Given the description of an element on the screen output the (x, y) to click on. 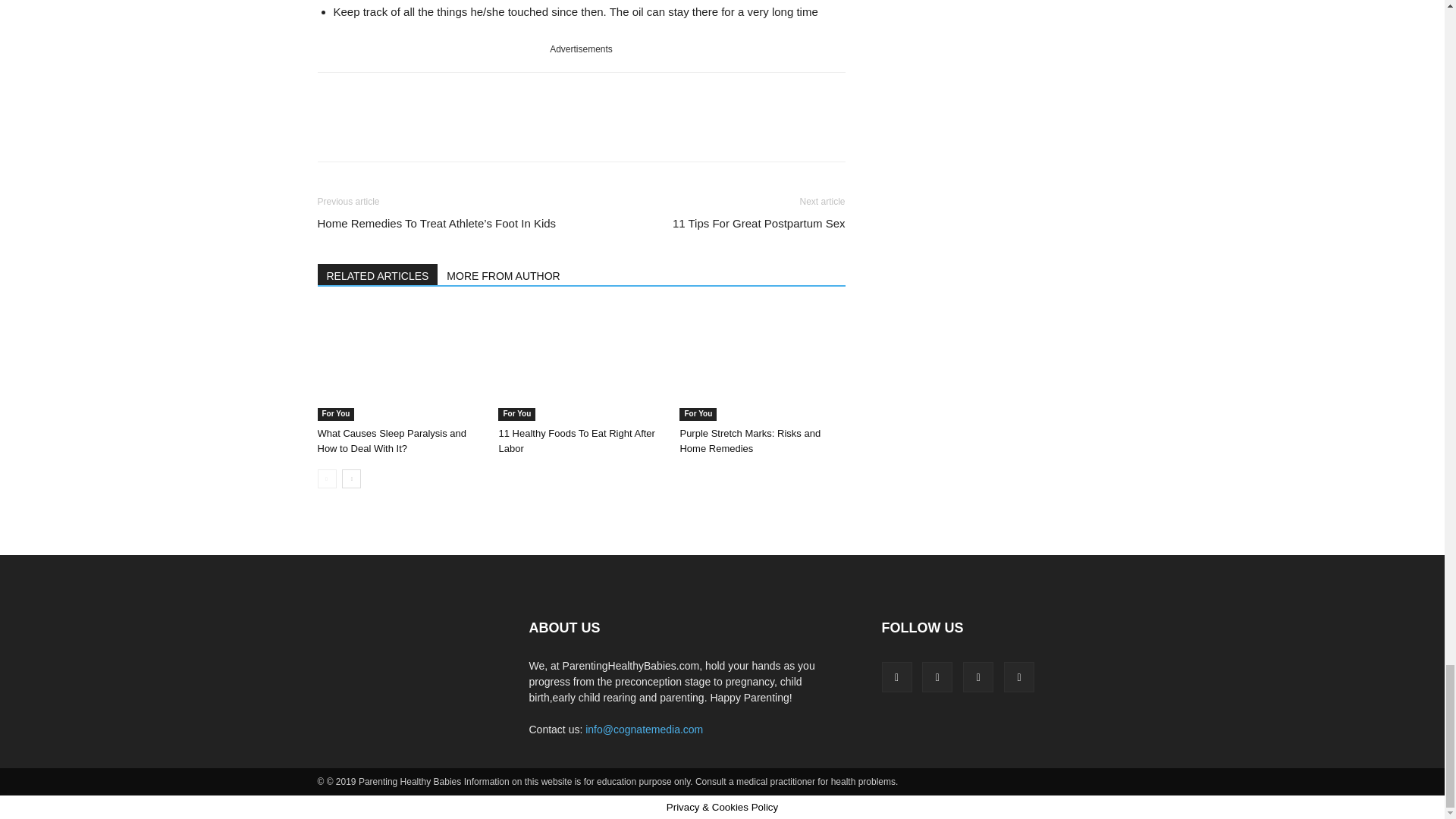
bottomFacebookLike (430, 96)
